Given the description of an element on the screen output the (x, y) to click on. 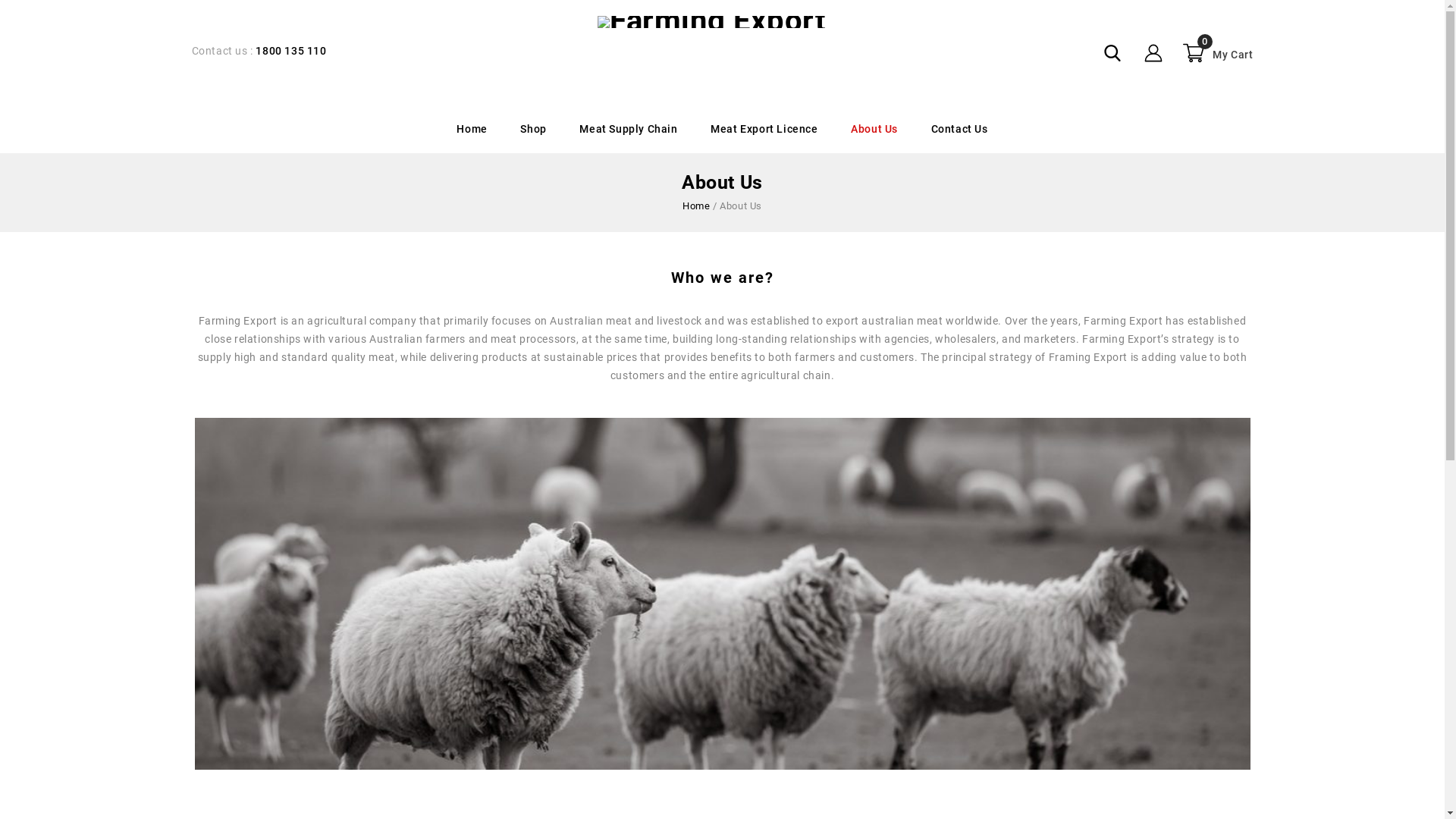
Home Element type: text (695, 205)
My Cart
0 Element type: text (1215, 52)
Contact Us Element type: text (959, 129)
About Us Element type: text (874, 129)
Lamb Export Element type: hover (721, 593)
Home Element type: text (471, 129)
Meat Export Licence Element type: text (763, 129)
Farming Export: Australian Meat Exporters, Beef, Lamb, Goat Element type: hover (711, 21)
Shop Element type: text (533, 129)
Meat Supply Chain Element type: text (628, 129)
